Given the description of an element on the screen output the (x, y) to click on. 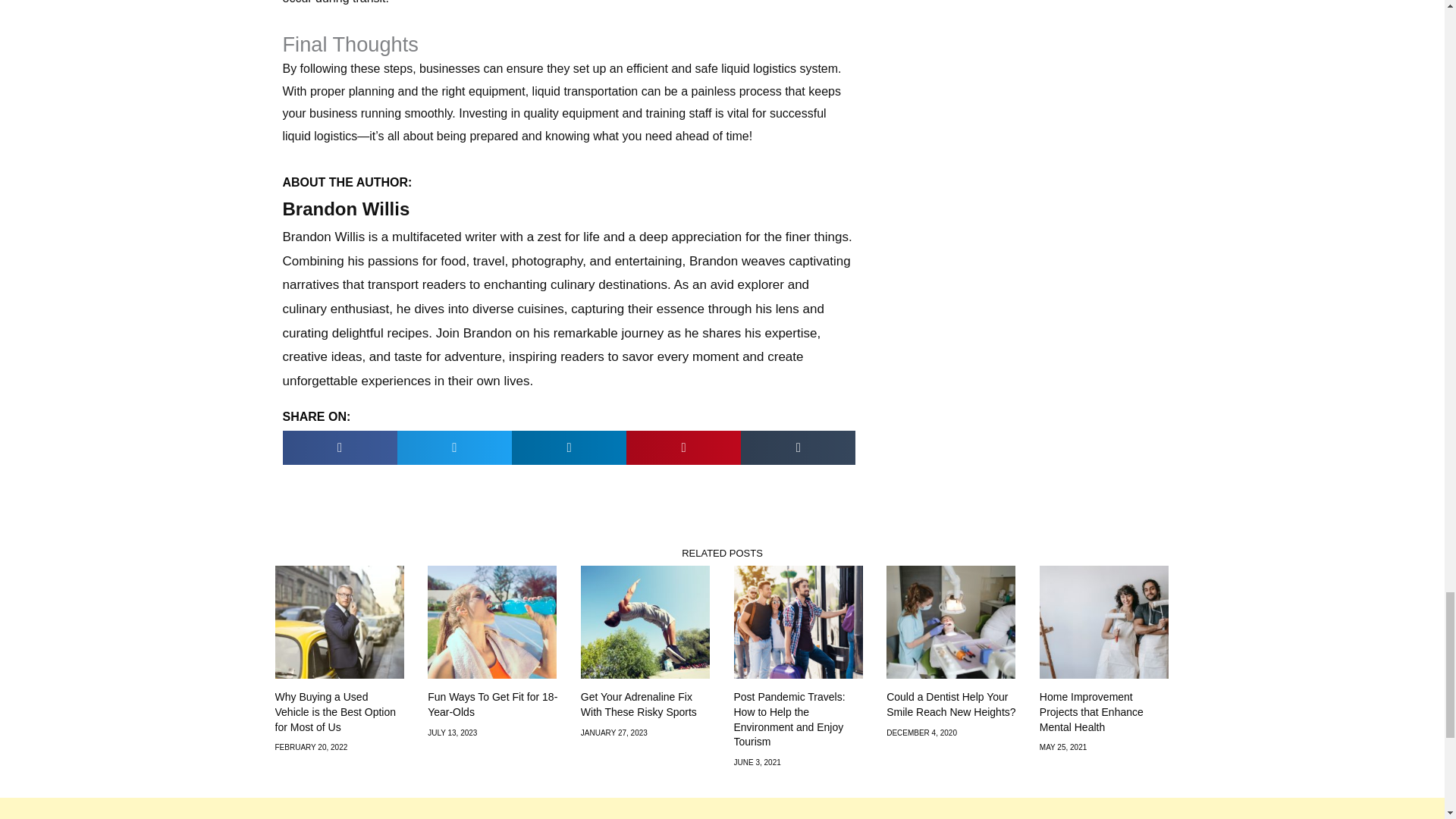
Why Buying a Used Vehicle is the Best Option for Most of Us (335, 711)
Fun Ways To Get Fit for 18-Year-Olds (492, 704)
Get Your Adrenaline Fix With These Risky Sports (638, 704)
